Given the description of an element on the screen output the (x, y) to click on. 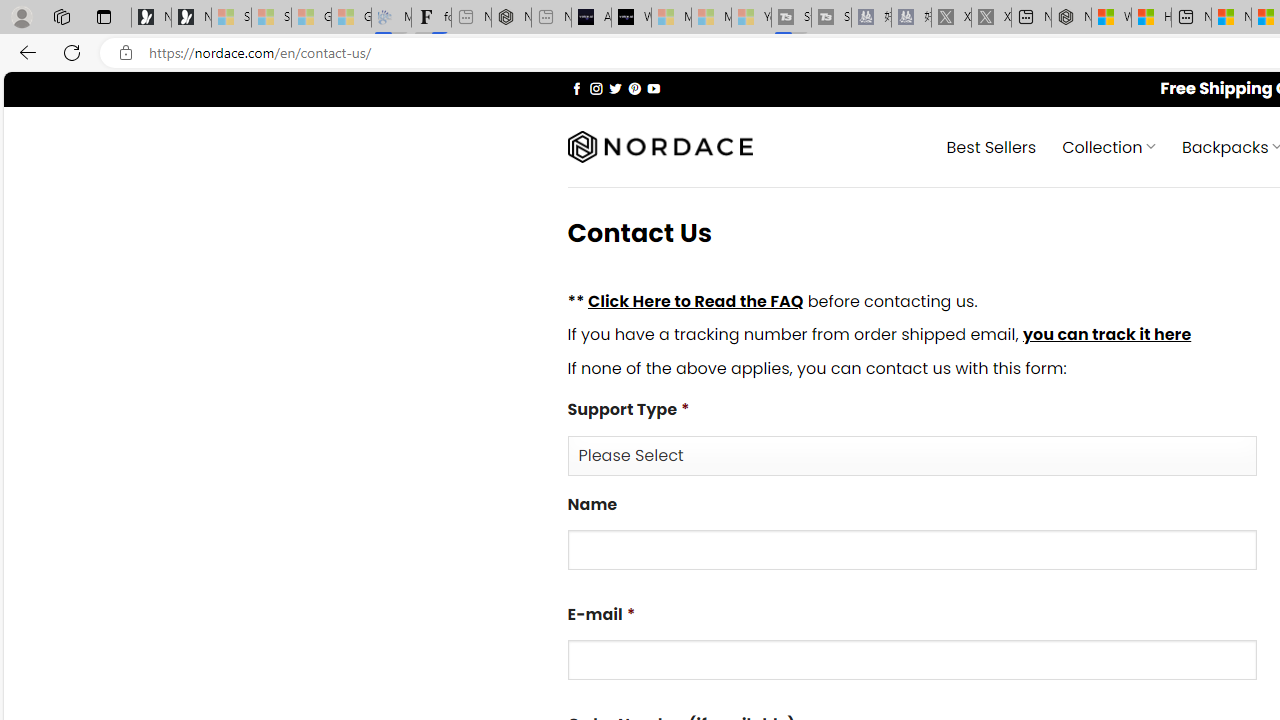
 Best Sellers (990, 146)
Follow on Twitter (615, 88)
you can track it here (1106, 335)
AI Voice Changer for PC and Mac - Voice.ai (591, 17)
Name (911, 549)
